Given the description of an element on the screen output the (x, y) to click on. 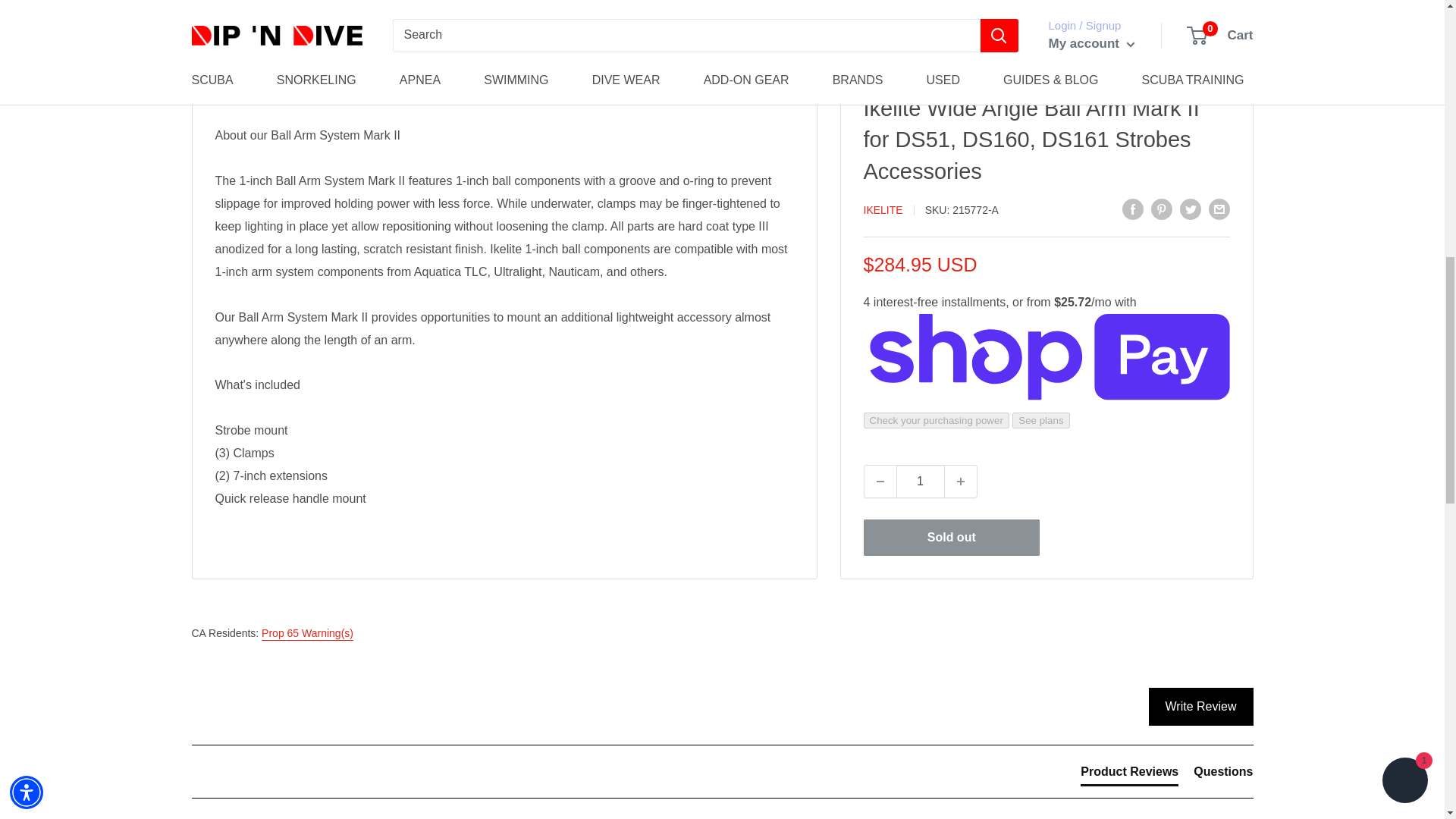
Prop 65 Warning (307, 633)
